Given the description of an element on the screen output the (x, y) to click on. 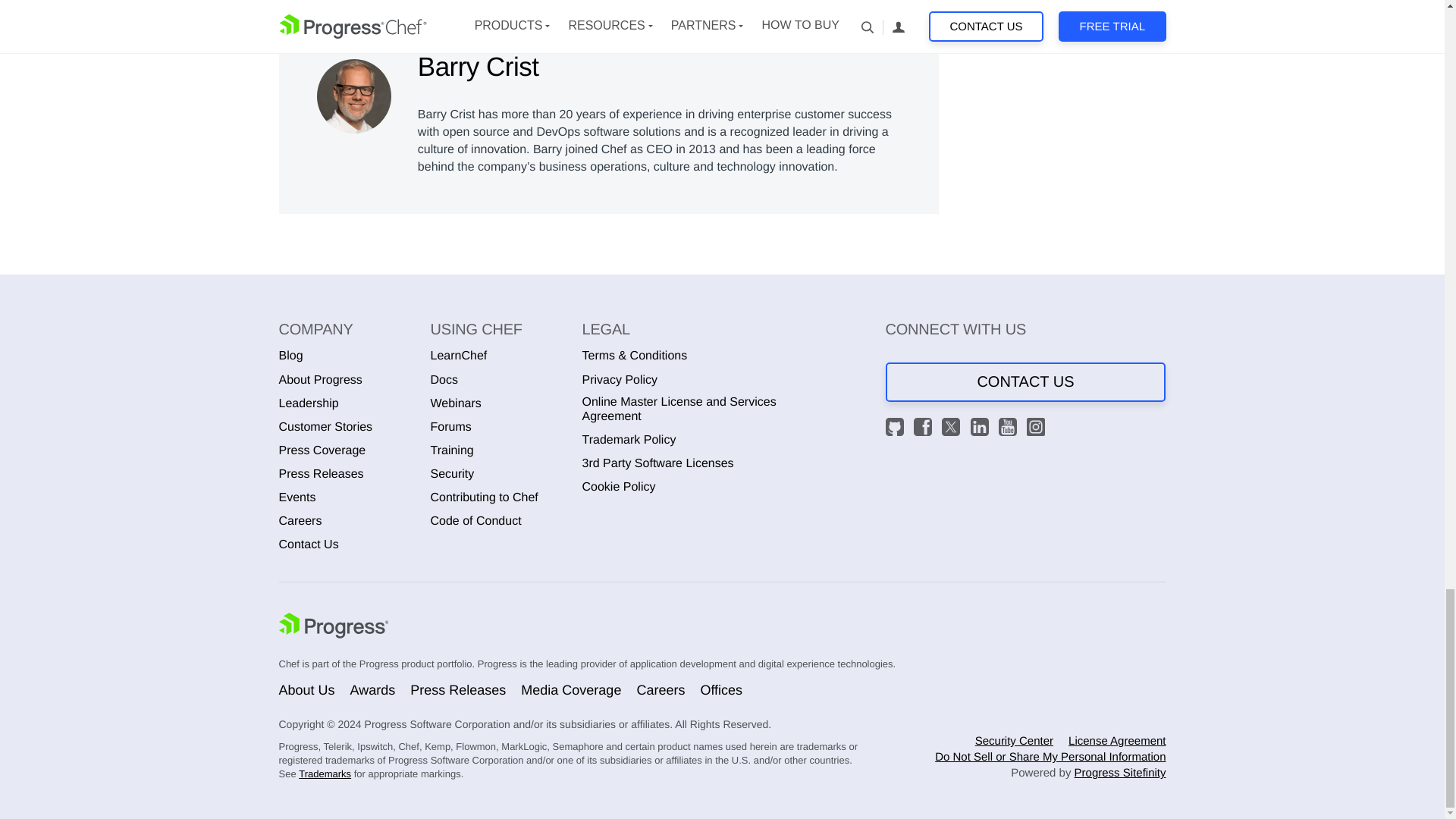
Progress-logo (333, 627)
DevOps (301, 1)
Barry Crist (355, 92)
Avatar (354, 95)
